Given the description of an element on the screen output the (x, y) to click on. 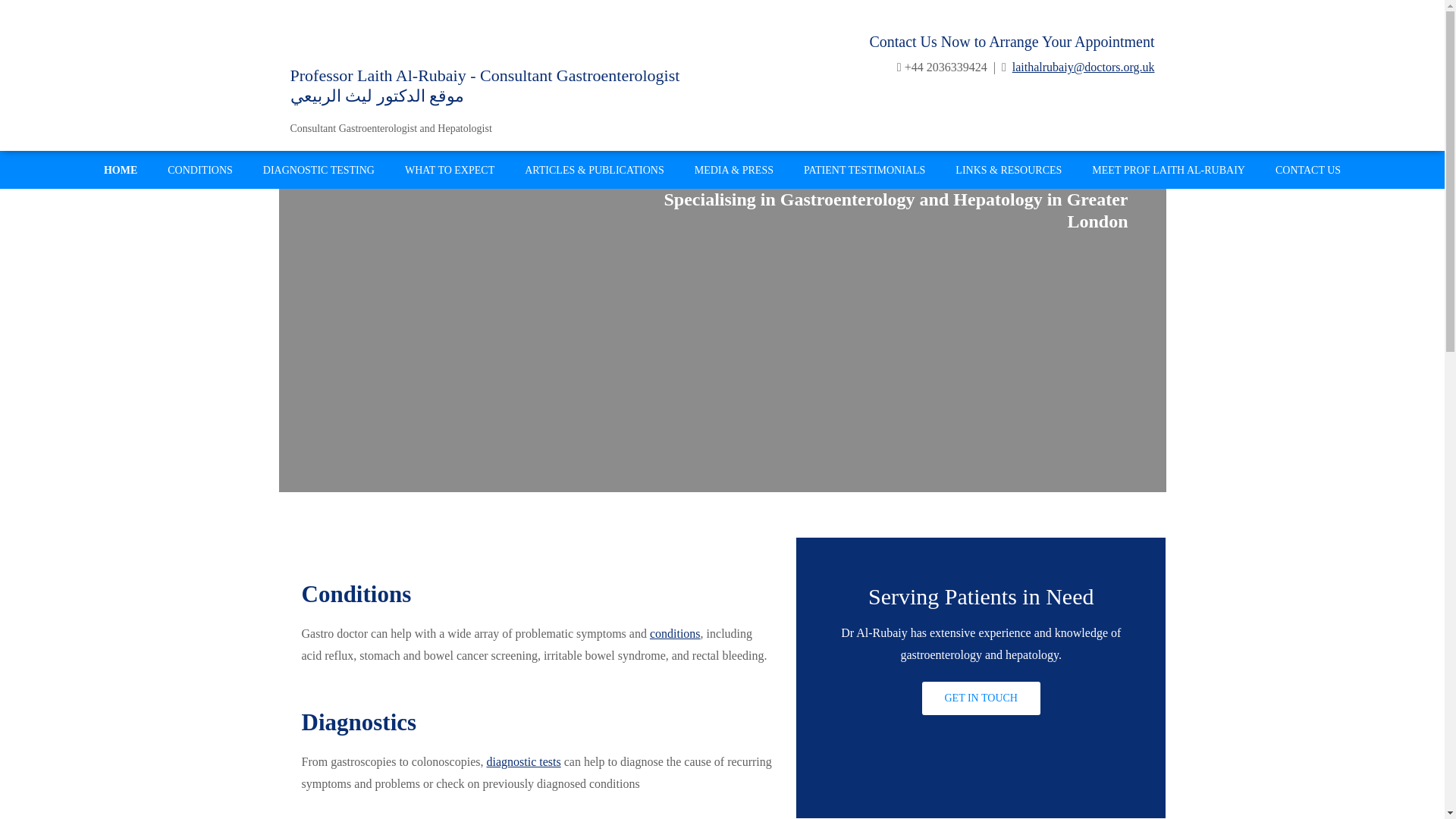
WHAT TO EXPECT (449, 169)
HOME (120, 169)
CONTACT US (1307, 169)
diagnostic tests (523, 761)
CONDITIONS (199, 169)
GET IN TOUCH (981, 697)
DIAGNOSTIC TESTING (318, 169)
MEET PROF LAITH AL-RUBAIY (1168, 169)
PATIENT TESTIMONIALS (864, 169)
conditions (674, 633)
